Given the description of an element on the screen output the (x, y) to click on. 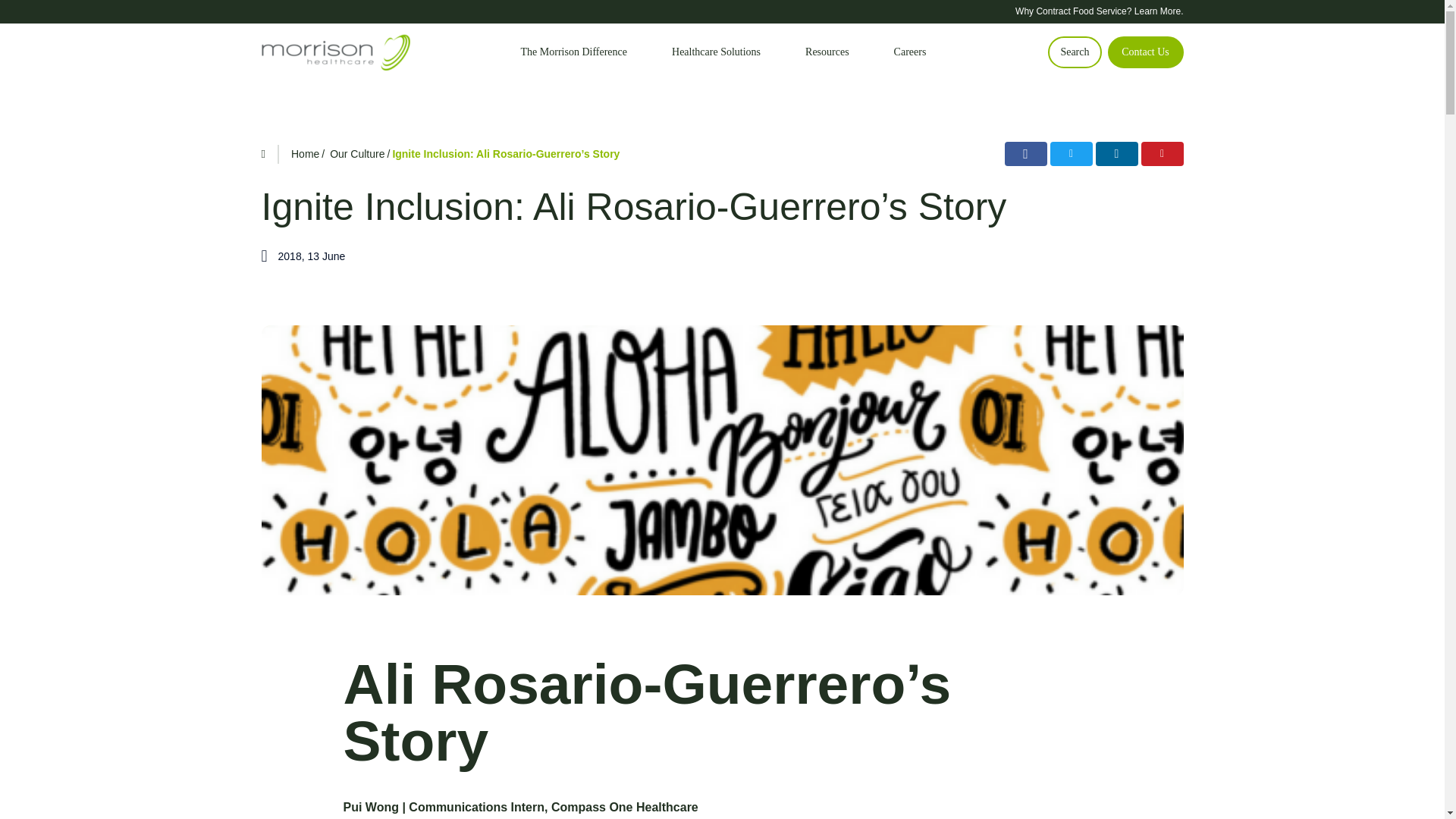
Contact Us (1144, 51)
Careers (910, 52)
Our Culture (357, 153)
Healthcare Solutions (716, 52)
Learn More. (1158, 10)
The Morrison Difference (574, 52)
Home (304, 153)
Resources (827, 52)
